Given the description of an element on the screen output the (x, y) to click on. 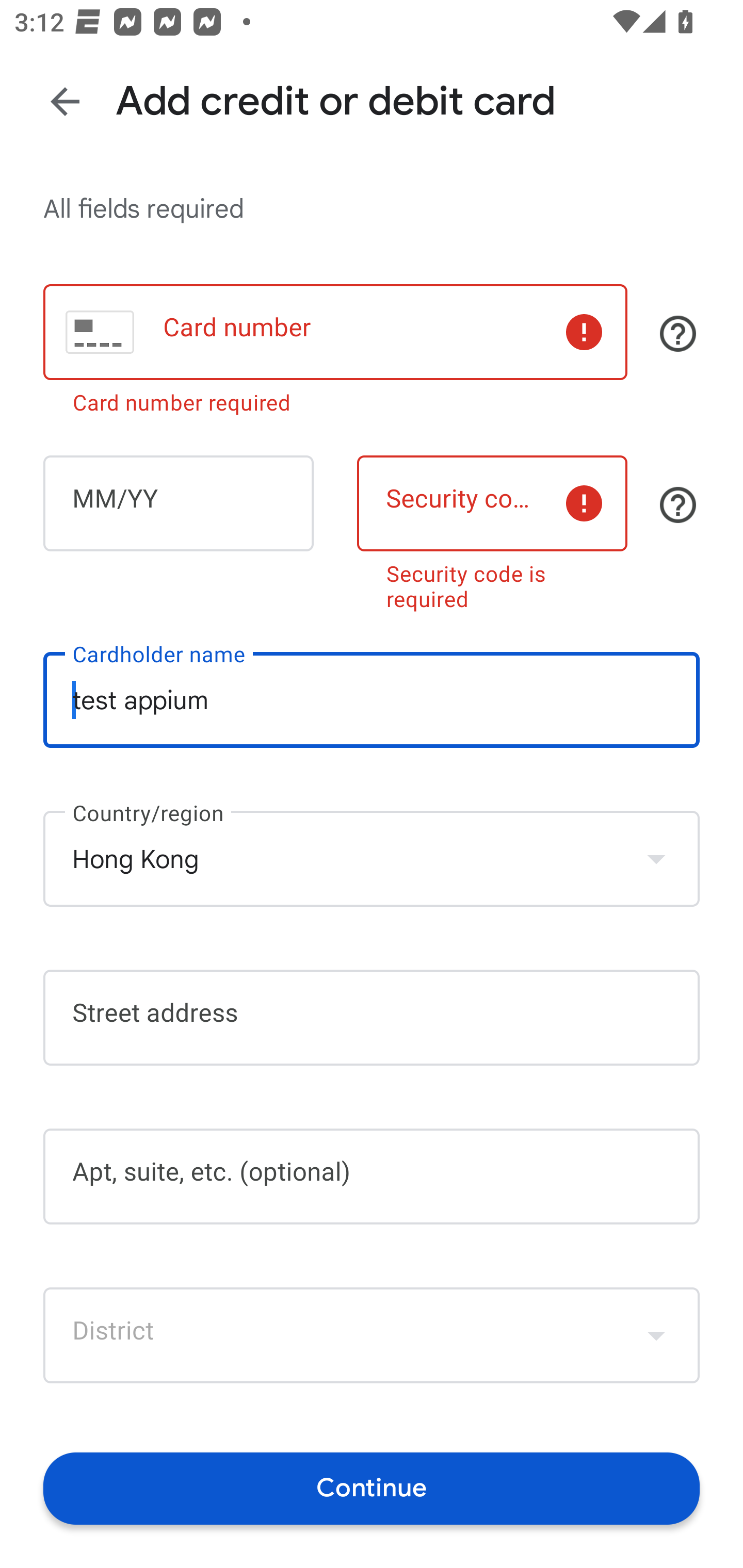
Back (64, 101)
Card number (335, 331)
Button, shows cards that are accepted for payment (677, 333)
Expiration date, 2 digit month, 2 digit year (178, 502)
Security code (492, 502)
Security code help (677, 504)
test appium (371, 699)
Hong Kong (371, 858)
Show dropdown menu (655, 858)
Street address (371, 1017)
Apt, suite, etc. (optional) (371, 1176)
District (371, 1334)
Show dropdown menu (655, 1335)
Continue (371, 1487)
